Given the description of an element on the screen output the (x, y) to click on. 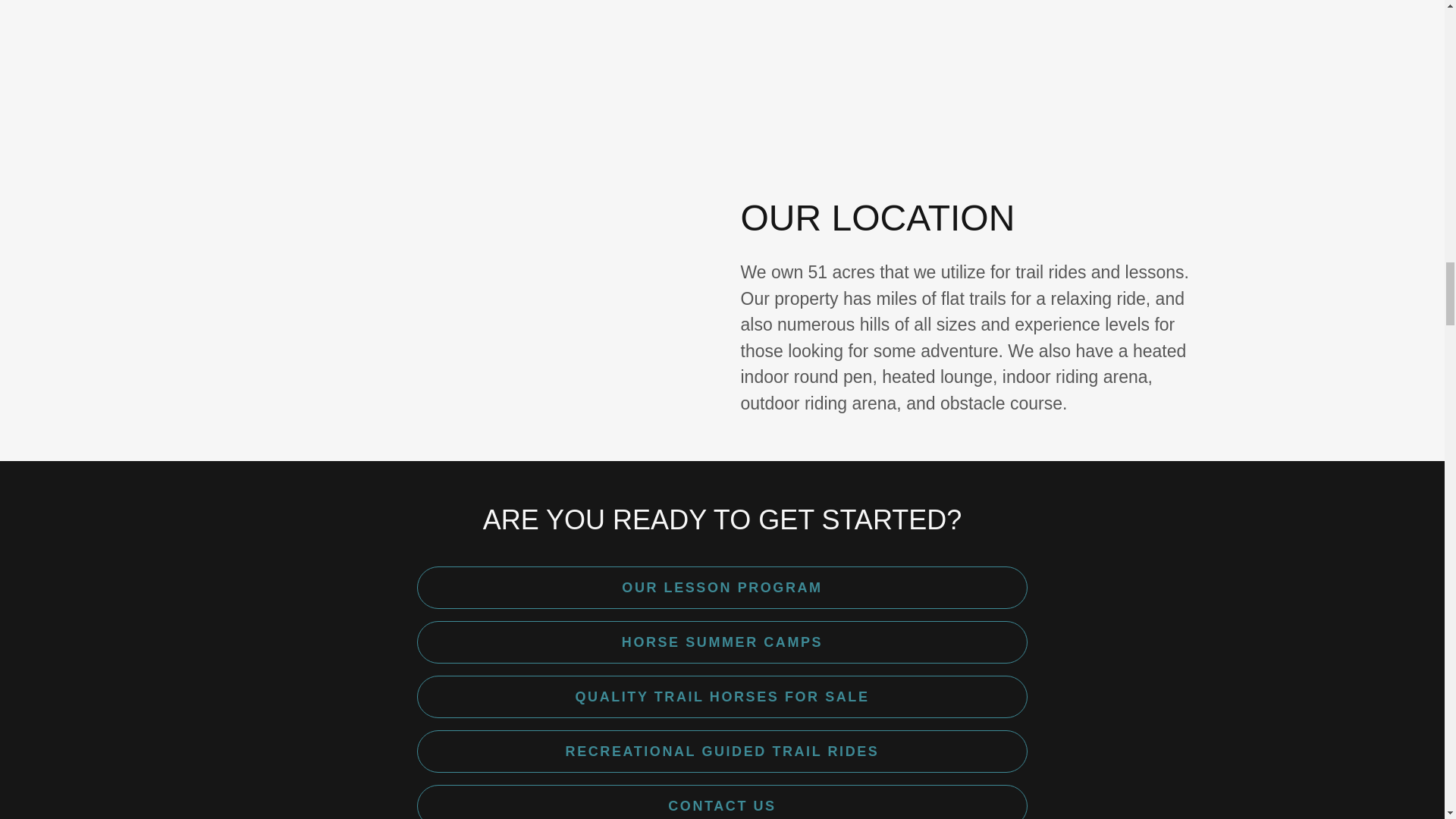
QUALITY TRAIL HORSES FOR SALE (721, 696)
HORSE SUMMER CAMPS (721, 641)
OUR LESSON PROGRAM (721, 587)
